Given the description of an element on the screen output the (x, y) to click on. 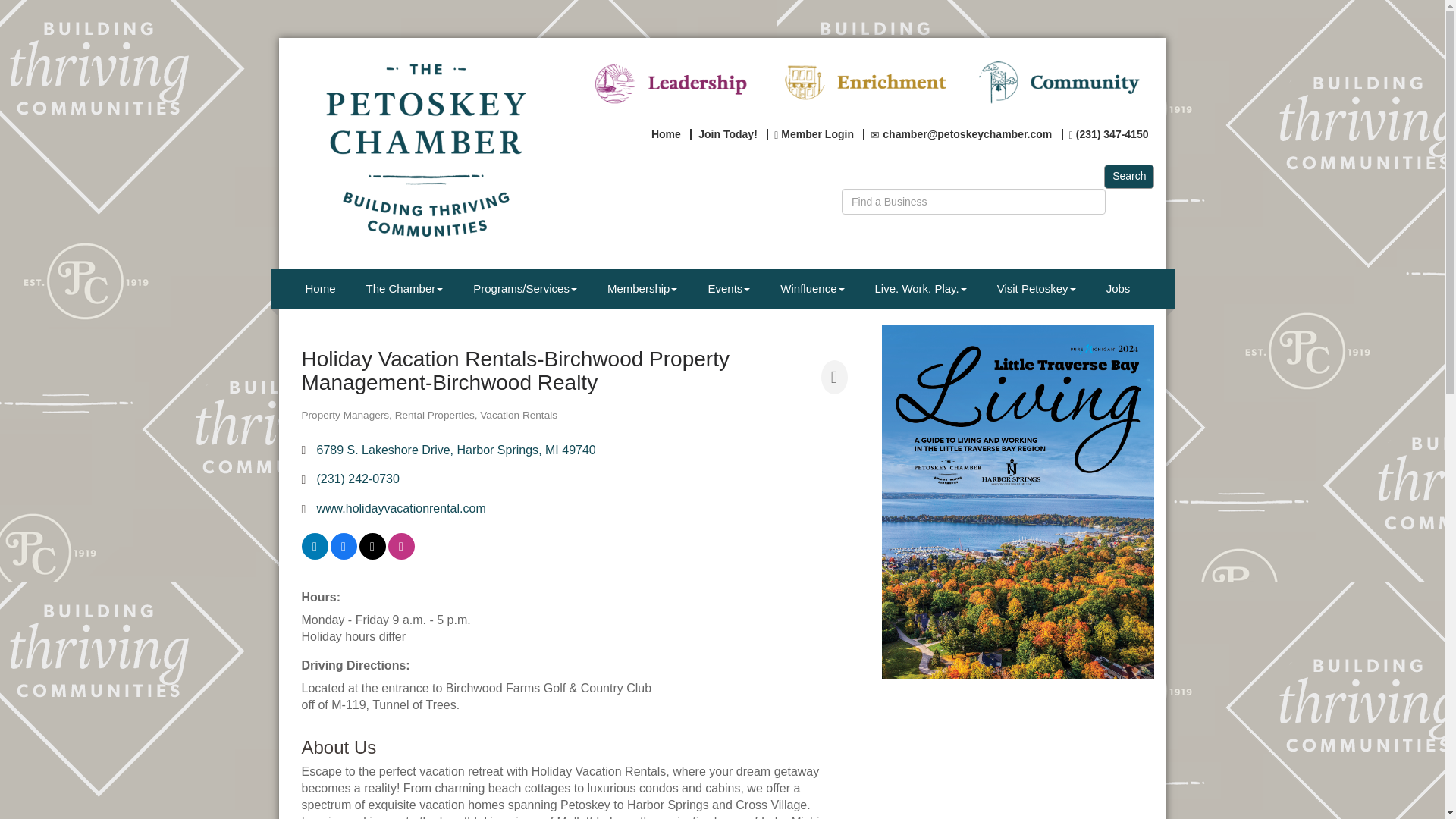
Membership (642, 288)
Join Today! (727, 133)
The Chamber (404, 288)
Home (319, 288)
View on Facebook (343, 554)
View on Instagram (401, 554)
View on LinkedIn (315, 554)
Member Login (813, 134)
Home (665, 133)
View on Twitter (372, 554)
